Given the description of an element on the screen output the (x, y) to click on. 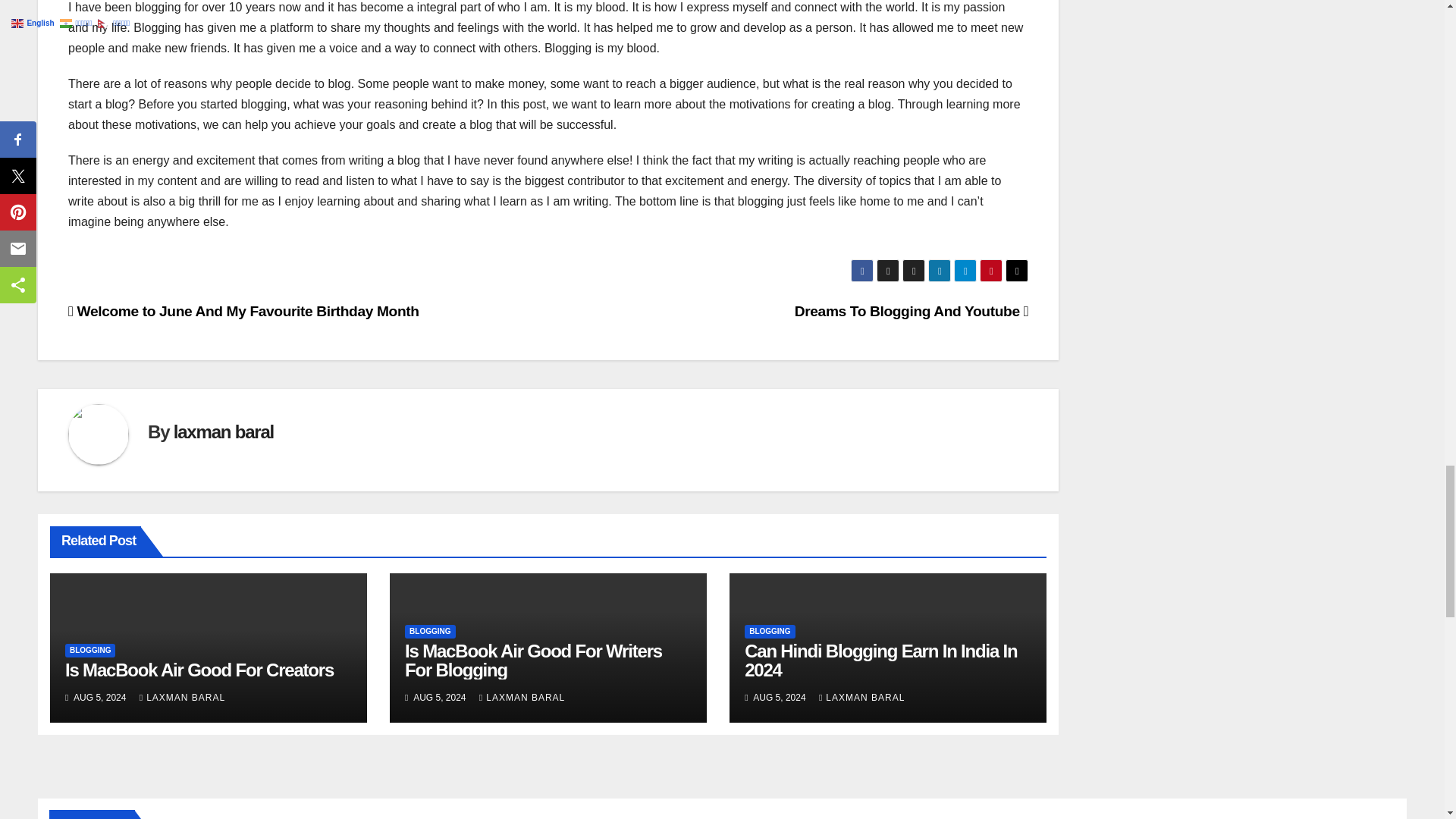
Permalink to: Is MacBook Air Good For Creators (199, 670)
Permalink to: Is MacBook Air Good For Writers For Blogging (533, 660)
Dreams To Blogging And Youtube (910, 311)
Welcome to June And My Favourite Birthday Month (243, 311)
